Given the description of an element on the screen output the (x, y) to click on. 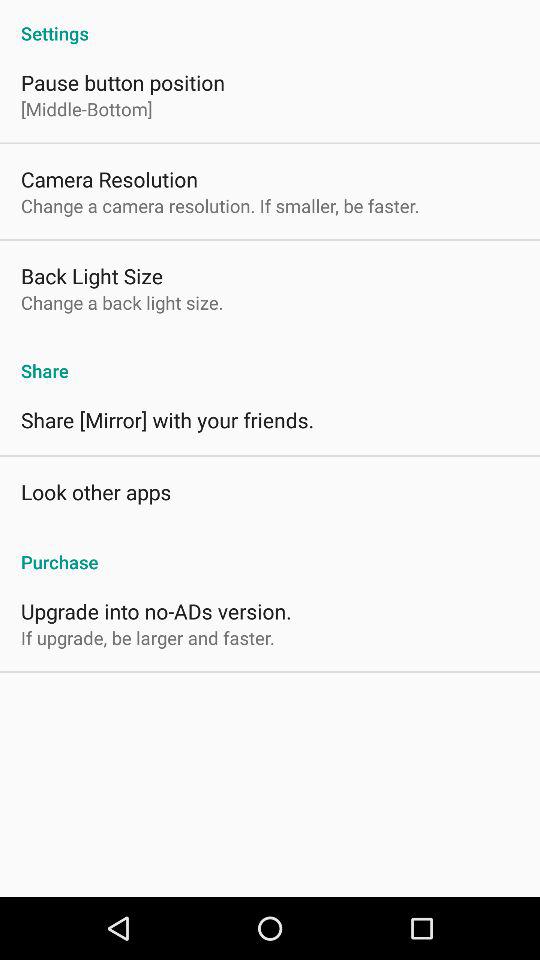
turn off app above the if upgrade be app (156, 610)
